Given the description of an element on the screen output the (x, y) to click on. 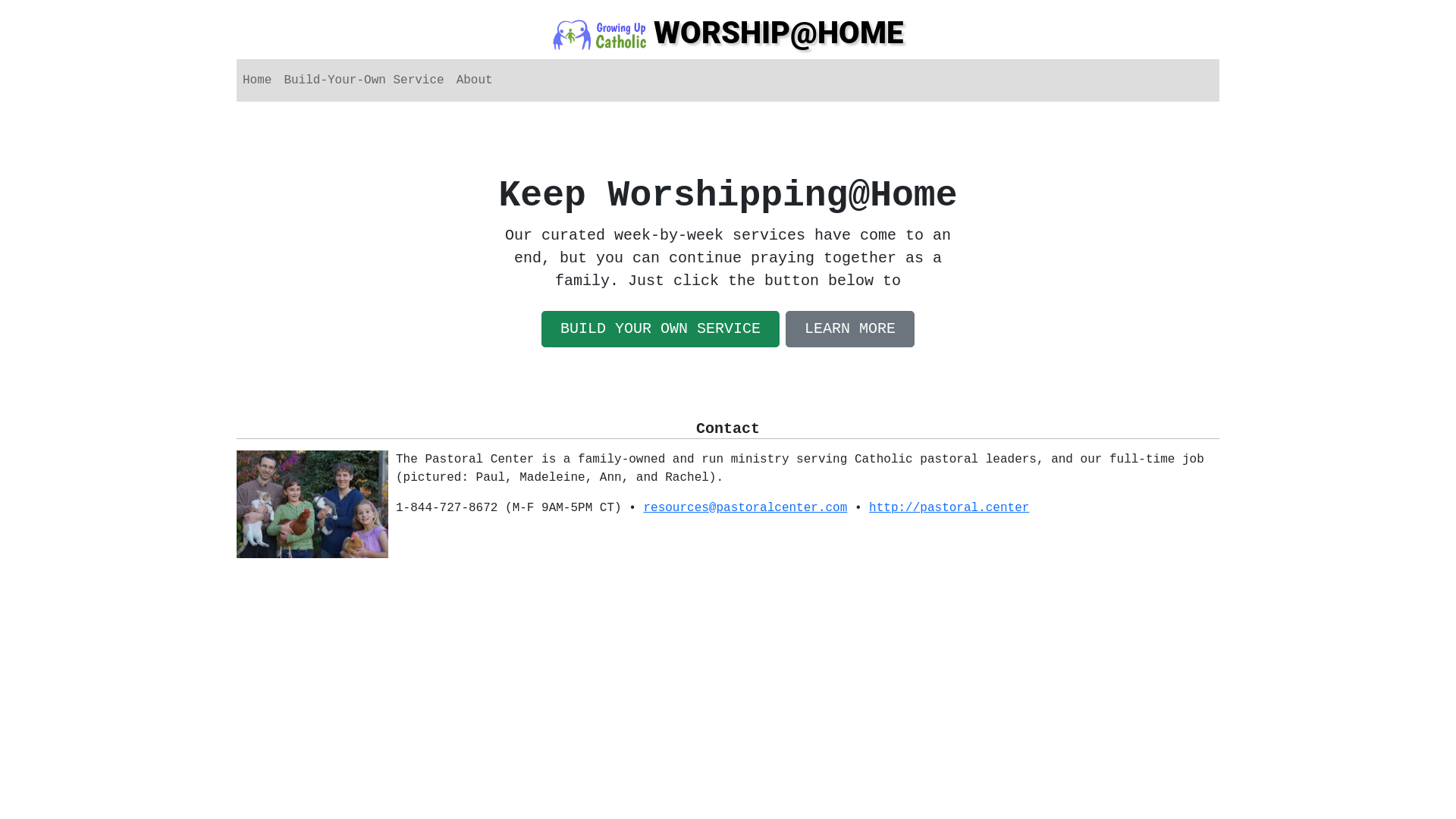
resources@pastoralcenter.com Element type: text (745, 507)
http://pastoral.center Element type: text (949, 507)
WORSHIP@HOME Element type: text (727, 32)
LEARN MORE Element type: text (849, 328)
Home Element type: text (256, 80)
BUILD YOUR OWN SERVICE Element type: text (660, 328)
About Element type: text (474, 80)
Build-Your-Own Service Element type: text (363, 80)
